Given the description of an element on the screen output the (x, y) to click on. 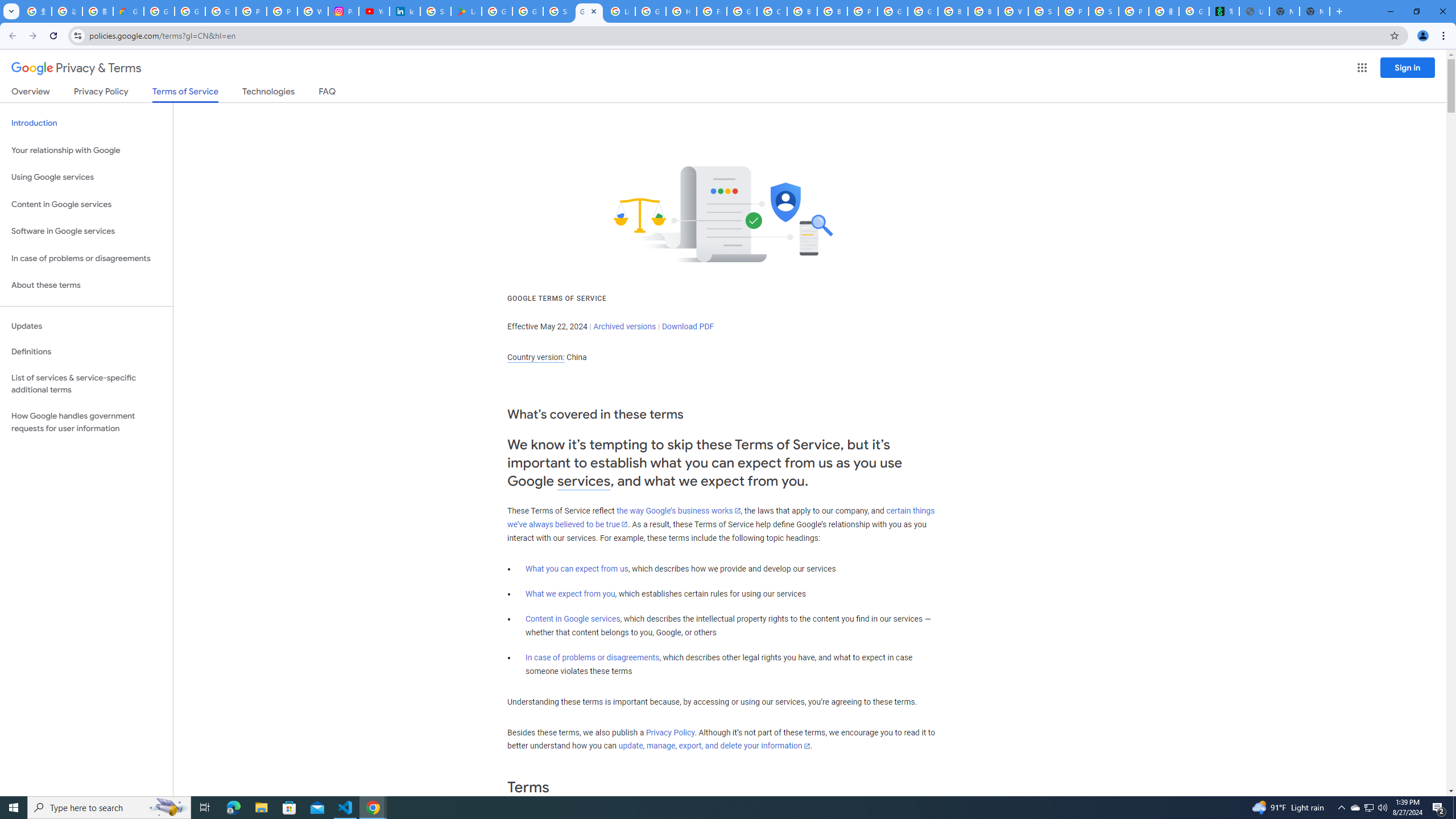
Your relationship with Google (86, 150)
About these terms (86, 284)
Sign in - Google Accounts (558, 11)
